Given the description of an element on the screen output the (x, y) to click on. 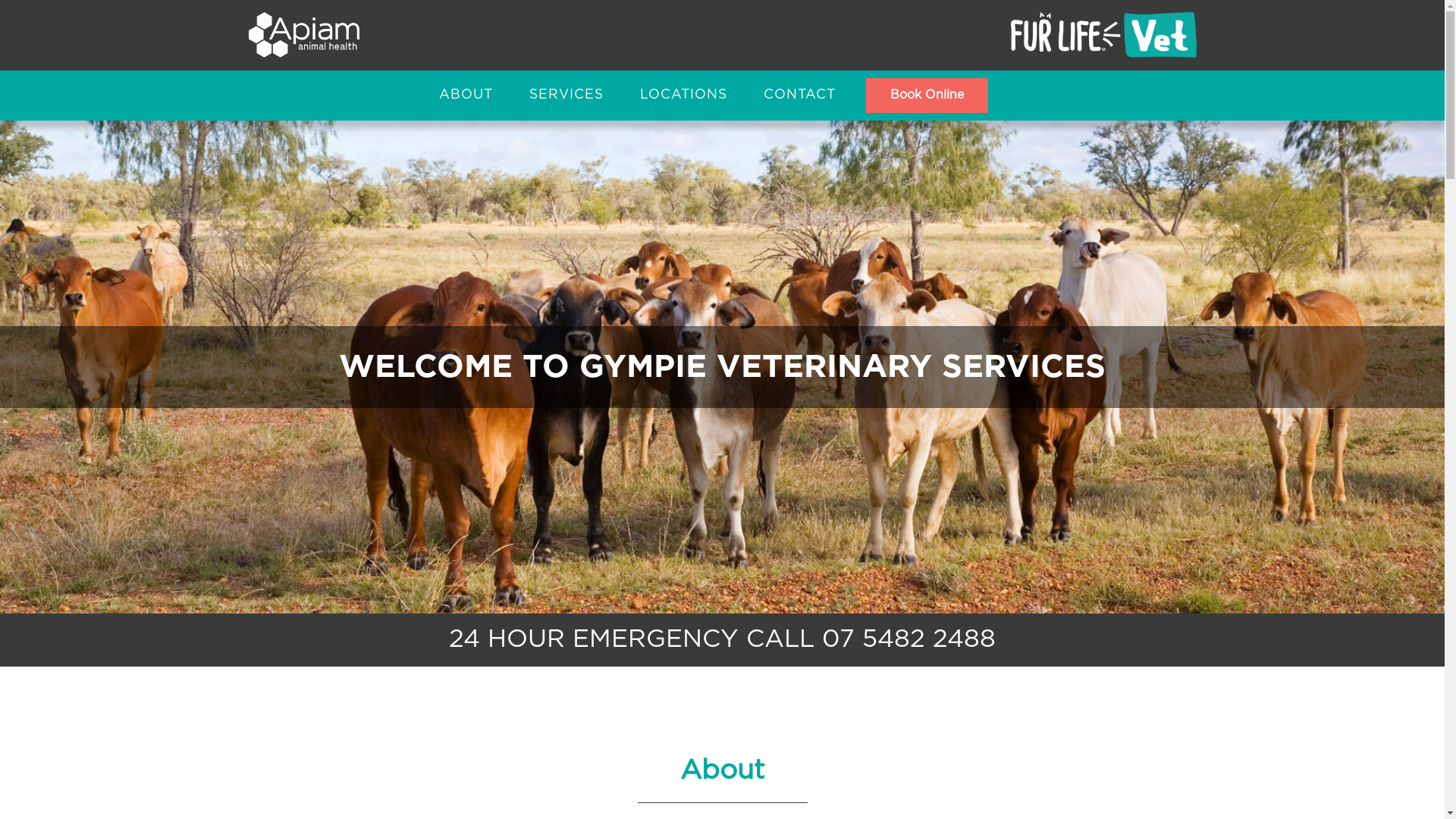
LOCATIONS Element type: text (683, 95)
Book Online Element type: text (927, 95)
07 5482 2488 Element type: text (908, 639)
SERVICES Element type: text (566, 95)
ABOUT Element type: text (465, 95)
CONTACT Element type: text (798, 95)
